Given the description of an element on the screen output the (x, y) to click on. 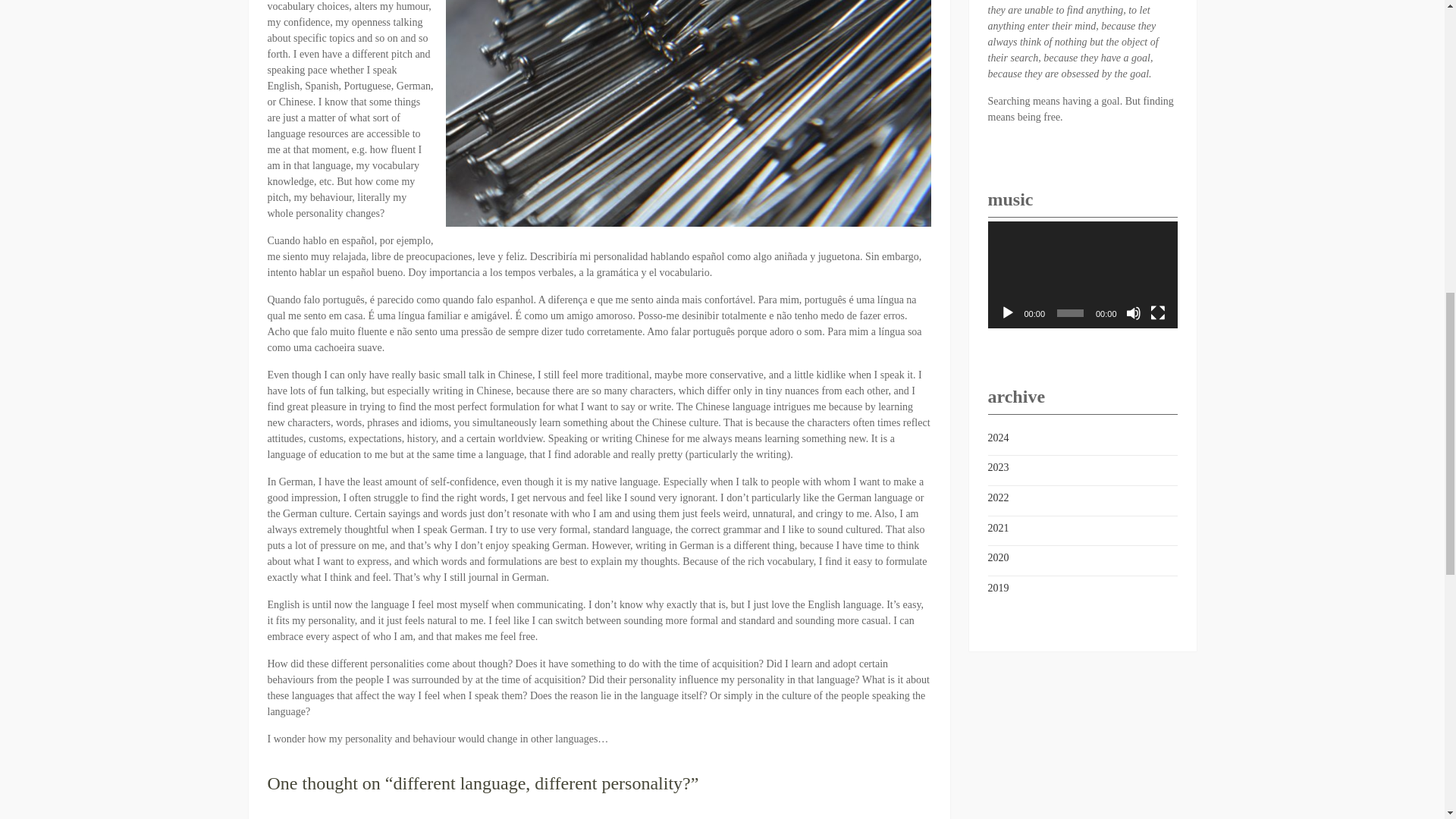
2019 (998, 587)
2024 (998, 437)
2023 (998, 467)
2021 (998, 527)
2020 (998, 557)
Play (1006, 313)
Mute (1132, 313)
2022 (998, 497)
Fullscreen (1157, 313)
